Given the description of an element on the screen output the (x, y) to click on. 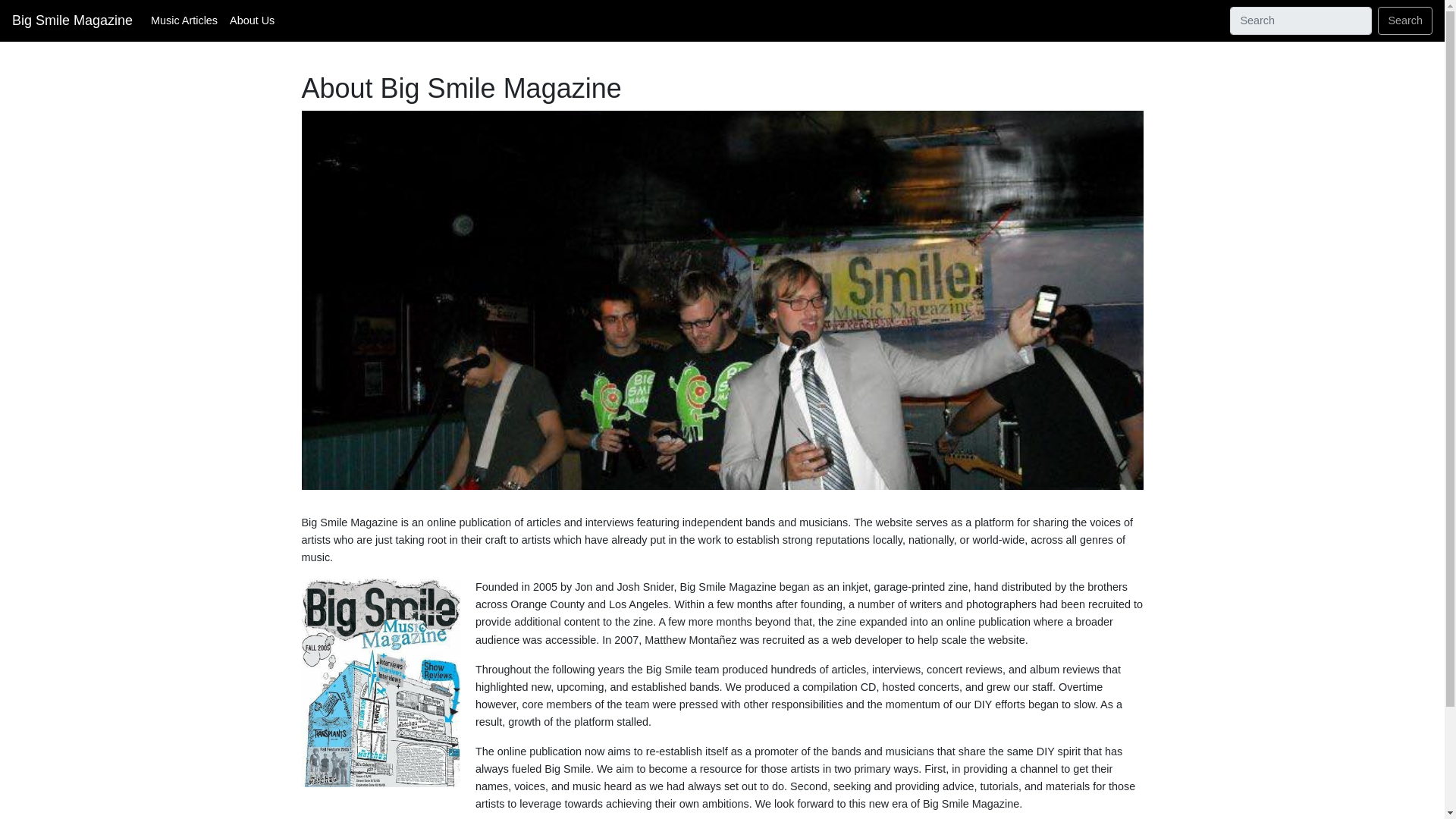
Search (1404, 20)
About Us (252, 20)
Music Articles (184, 20)
Big Smile Magazine (71, 20)
